Given the description of an element on the screen output the (x, y) to click on. 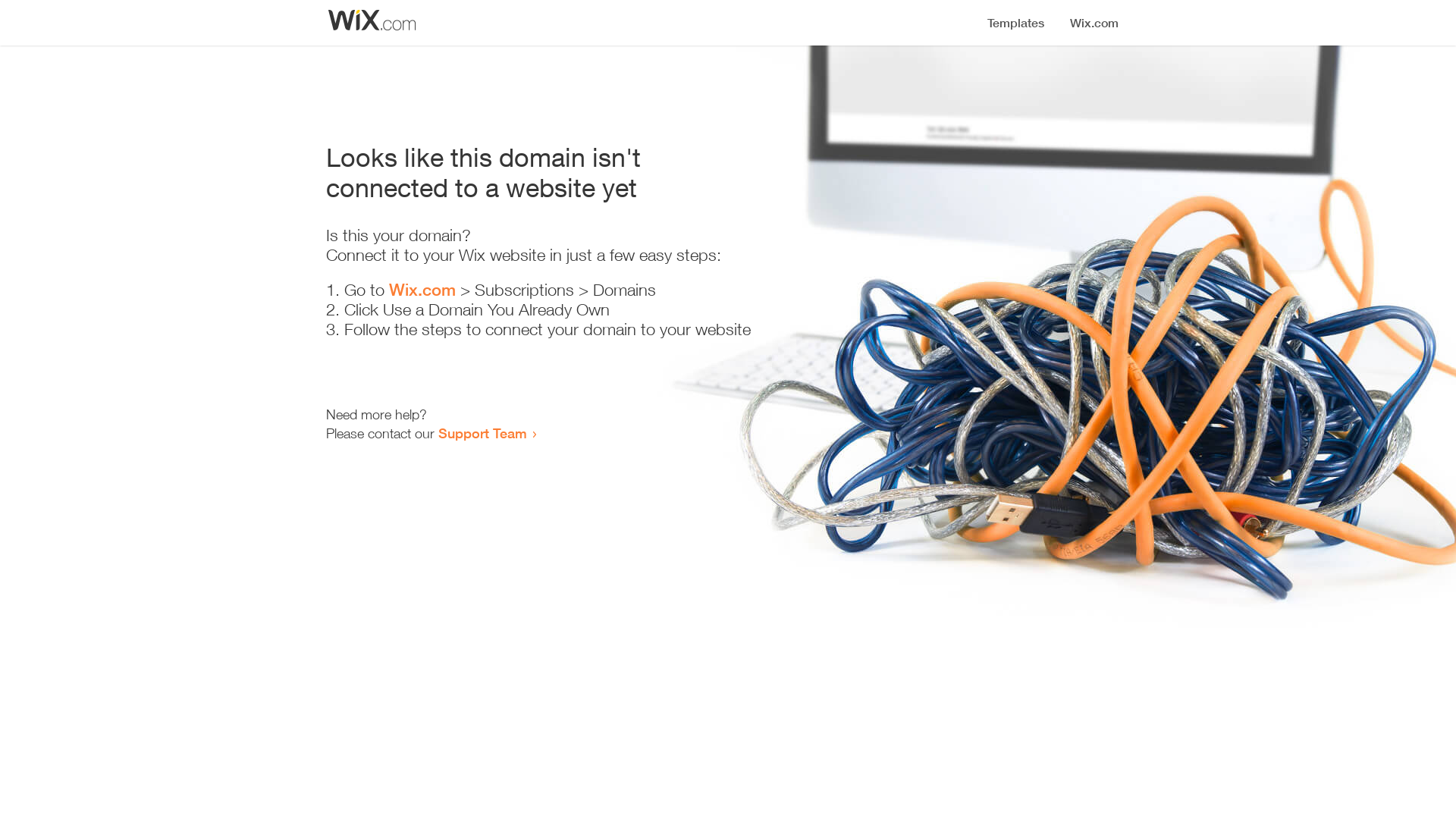
Wix.com Element type: text (422, 289)
Support Team Element type: text (482, 432)
